Given the description of an element on the screen output the (x, y) to click on. 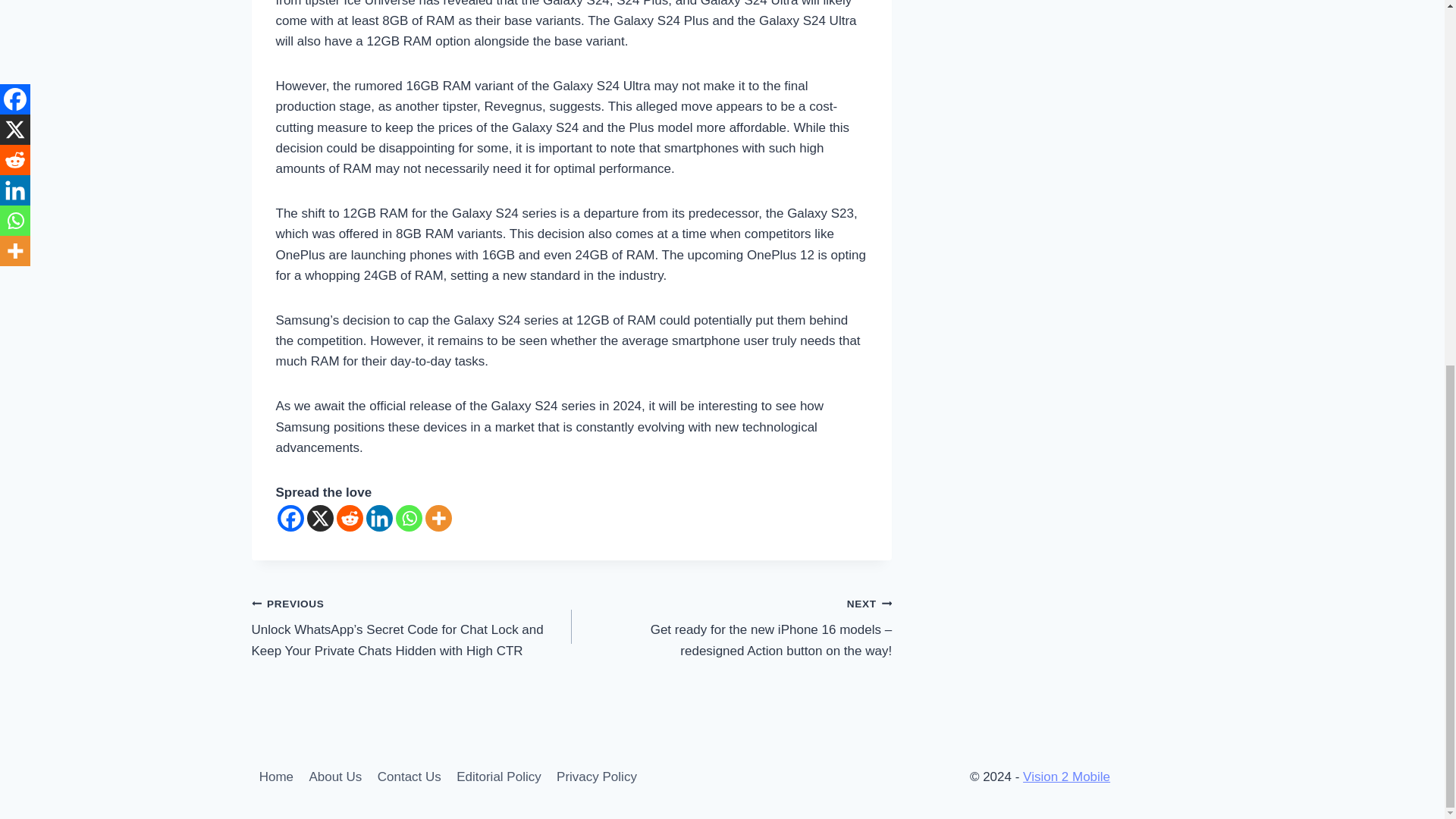
Privacy Policy (596, 776)
Editorial Policy (498, 776)
Reddit (349, 518)
Home (276, 776)
Facebook (291, 518)
Whatsapp (409, 518)
More (438, 518)
Linkedin (378, 518)
X (319, 518)
Contact Us (408, 776)
Vision 2 Mobile (1066, 776)
About Us (335, 776)
